Given the description of an element on the screen output the (x, y) to click on. 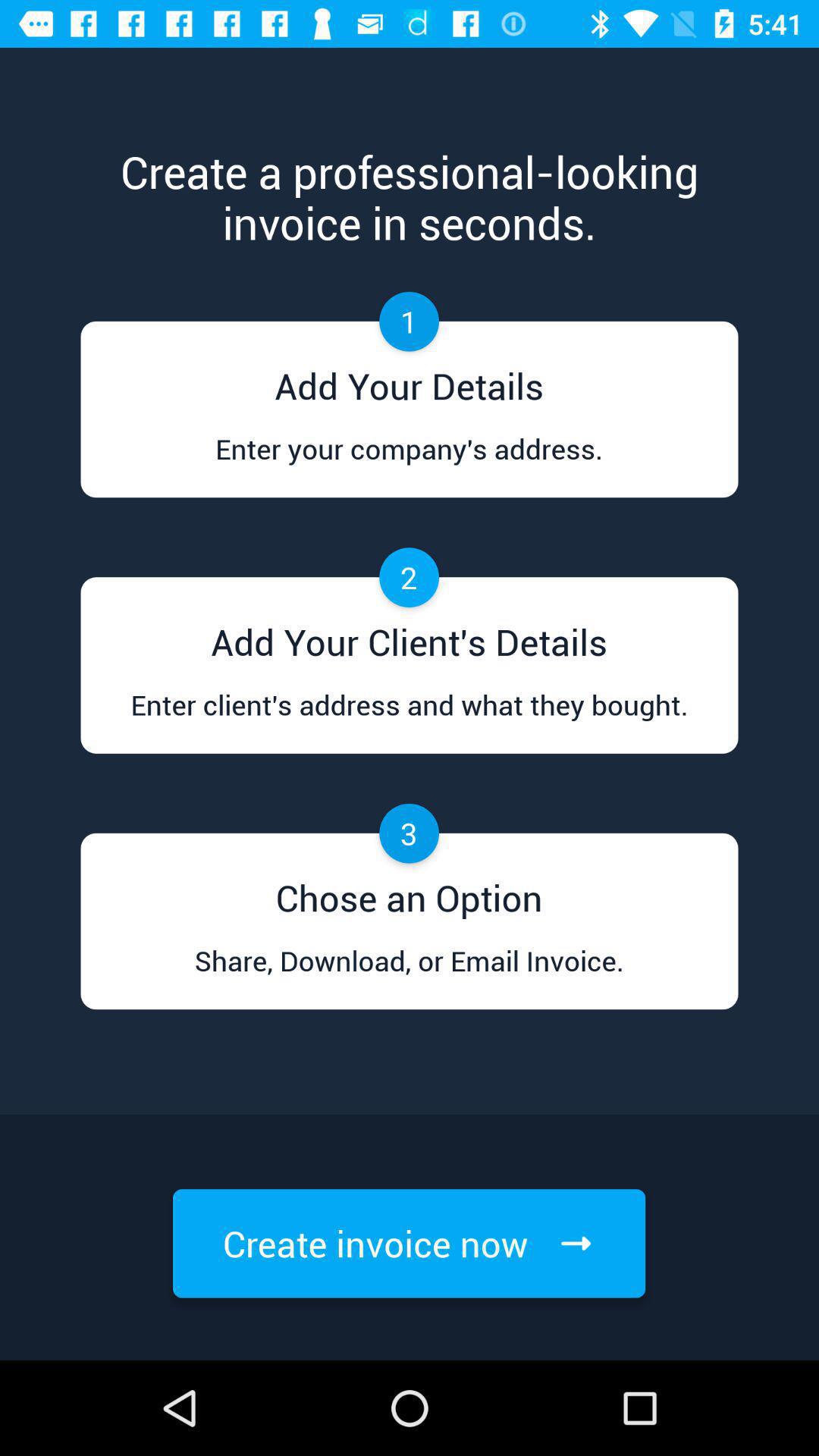
launch icon above the share download or item (408, 892)
